Given the description of an element on the screen output the (x, y) to click on. 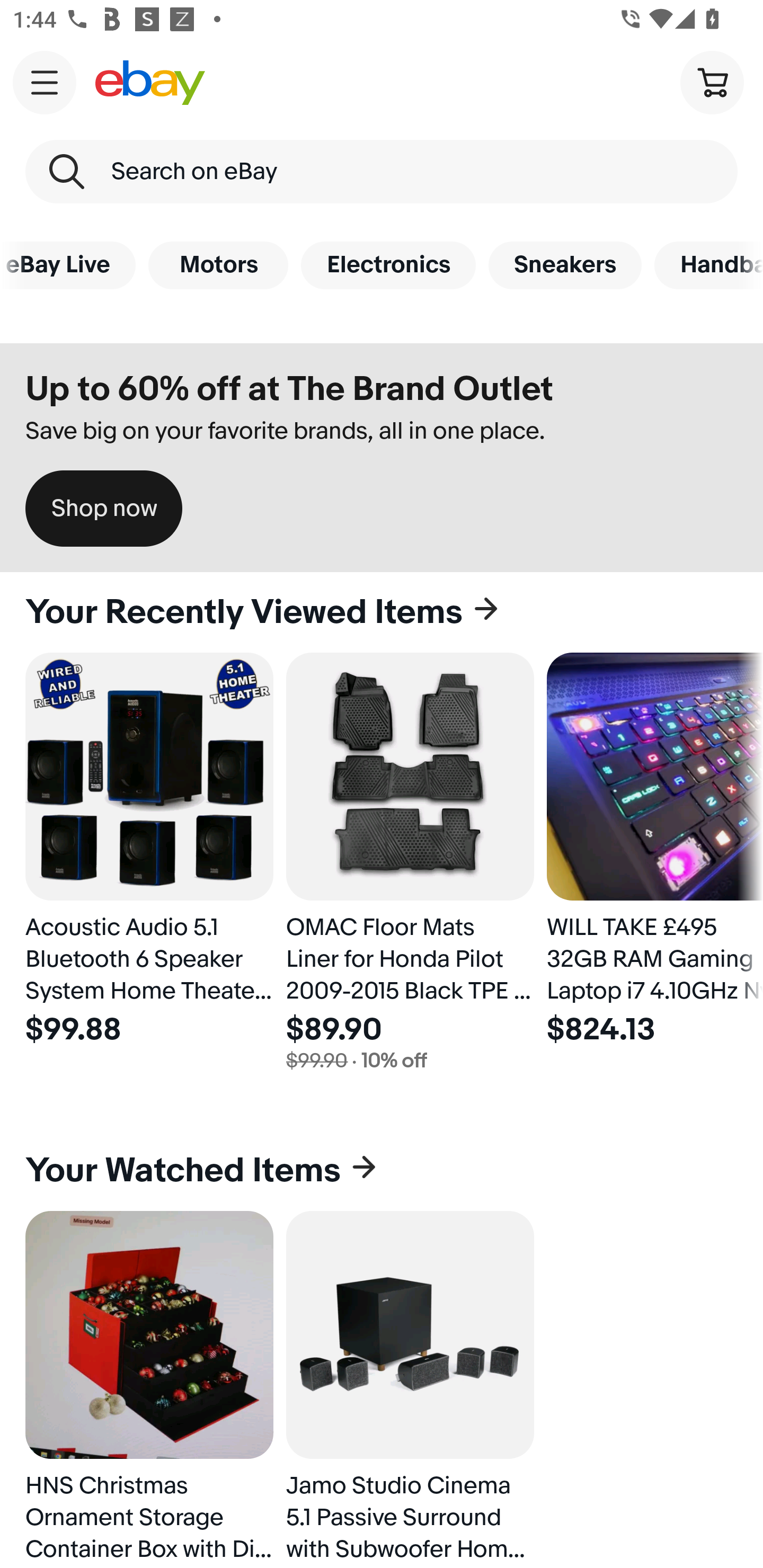
Main navigation, open (44, 82)
Cart button shopping cart (711, 81)
Search on eBay Search Keyword Search on eBay (381, 171)
eBay Live (67, 264)
Motors (218, 264)
Electronics (388, 264)
Sneakers (564, 264)
Up to 60% off at The Brand Outlet (289, 389)
Shop now (103, 508)
Your Recently Viewed Items   (381, 612)
Your Watched Items   (381, 1170)
